Given the description of an element on the screen output the (x, y) to click on. 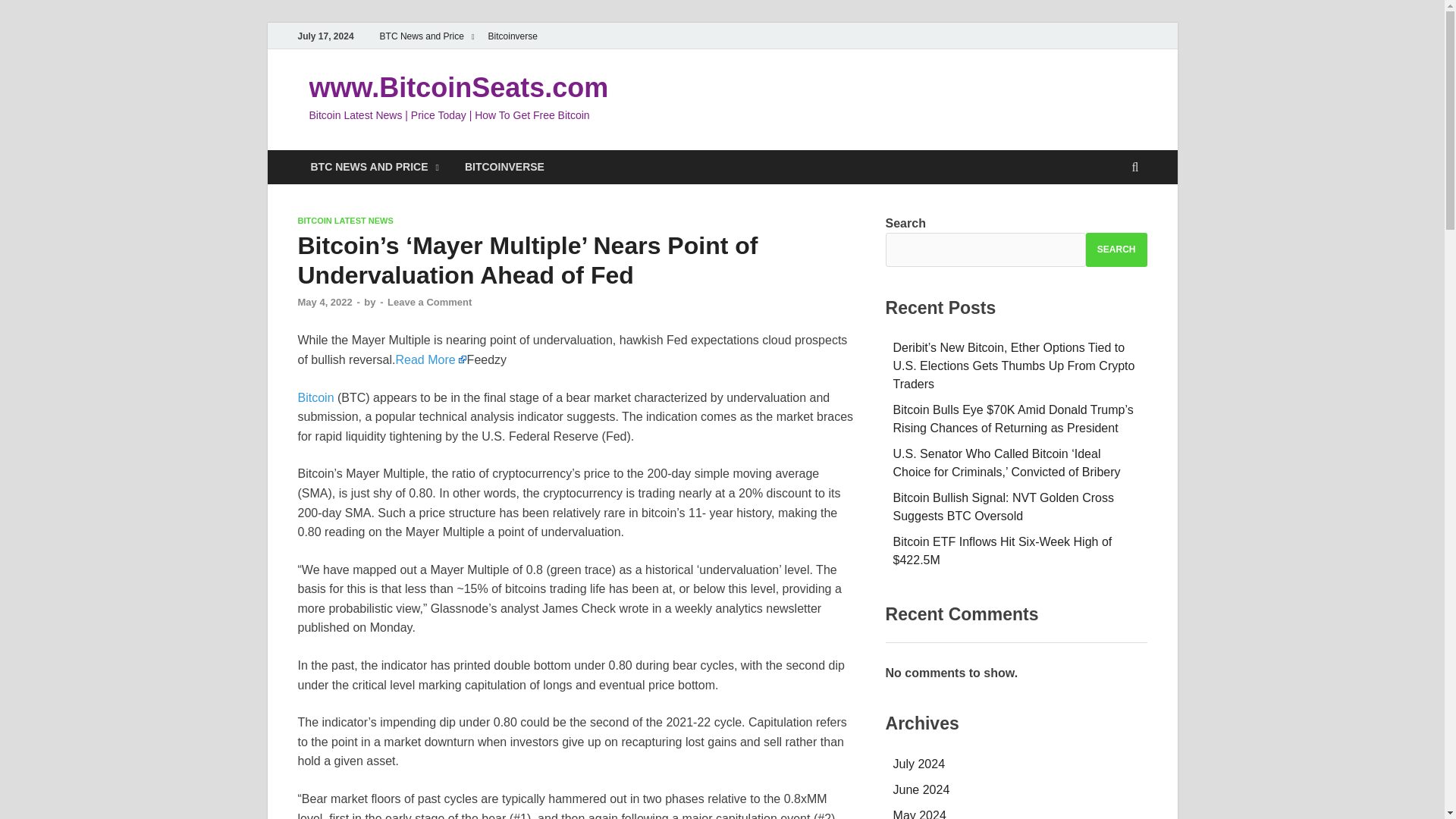
Read More (429, 359)
May 4, 2022 (324, 301)
BITCOINVERSE (504, 166)
BTC NEWS AND PRICE (374, 166)
BITCOIN LATEST NEWS (345, 220)
Leave a Comment (429, 301)
www.BitcoinSeats.com (458, 87)
Bitcoin (315, 397)
Bitcoinverse (512, 35)
BTC News and Price (426, 35)
